Given the description of an element on the screen output the (x, y) to click on. 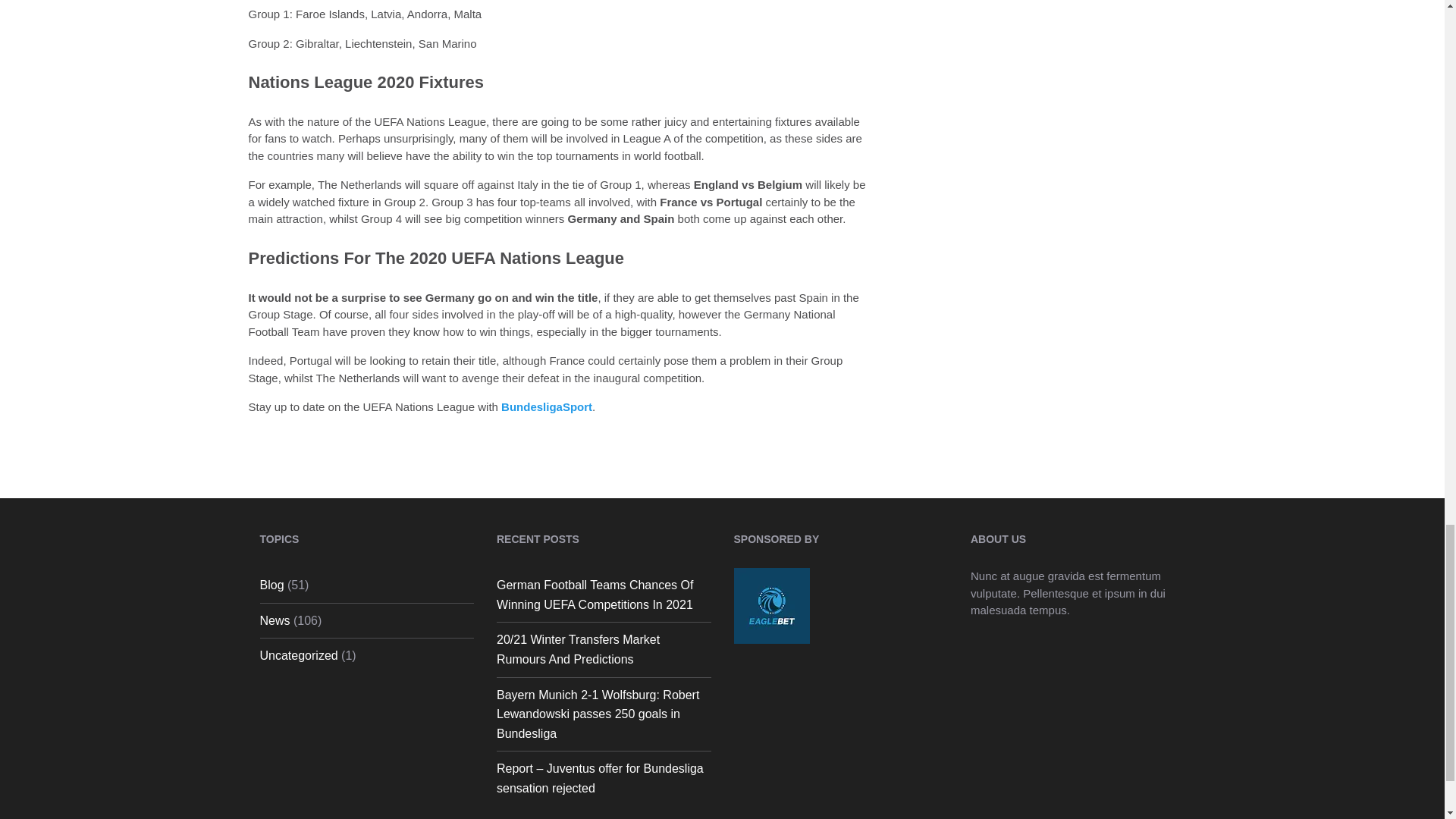
BundesligaSport (546, 406)
Blog (271, 584)
News (274, 620)
